Given the description of an element on the screen output the (x, y) to click on. 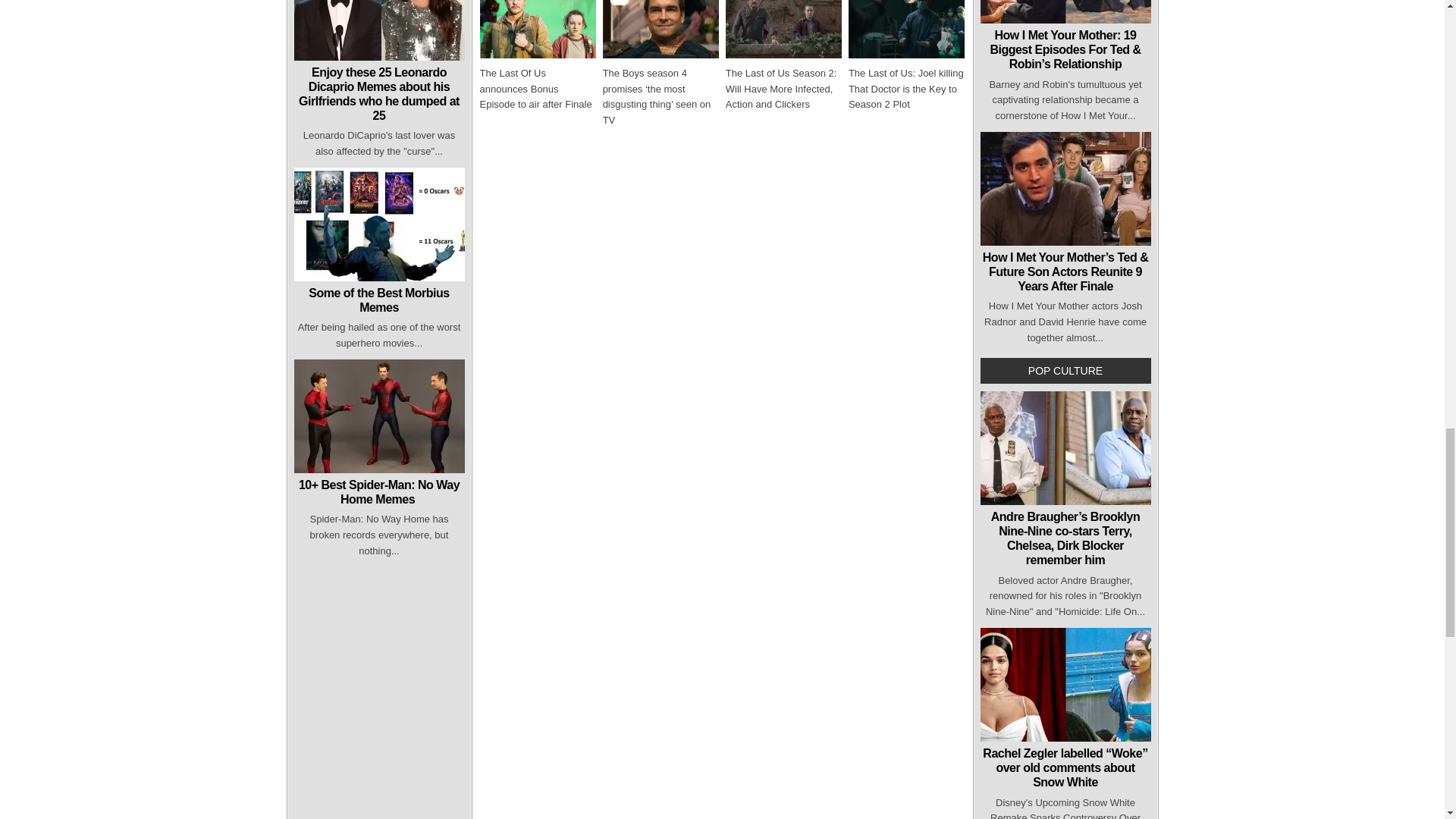
The Last Of Us announces Bonus Episode to air after Finale (535, 88)
